Given the description of an element on the screen output the (x, y) to click on. 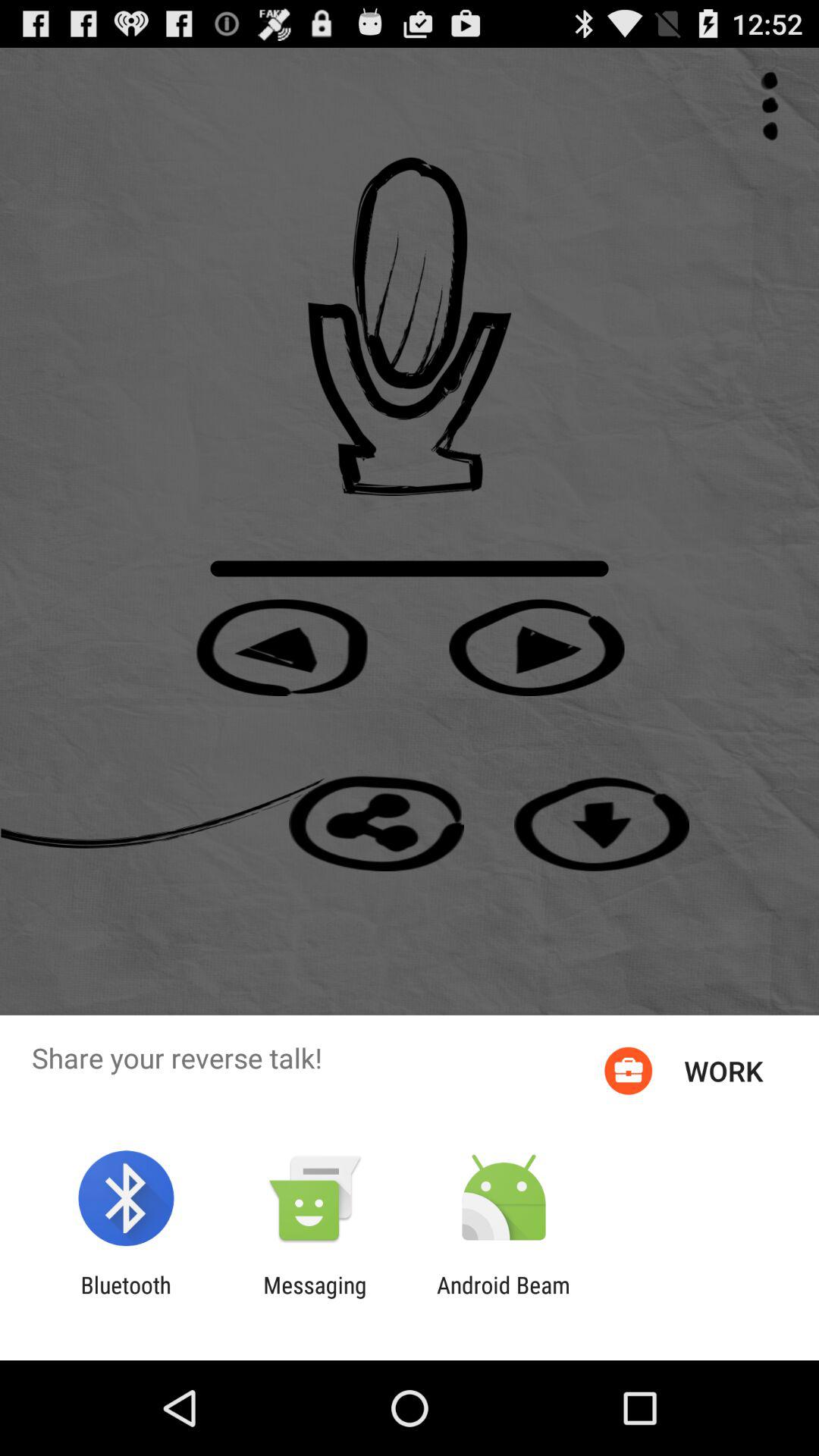
select app next to the messaging item (125, 1298)
